Given the description of an element on the screen output the (x, y) to click on. 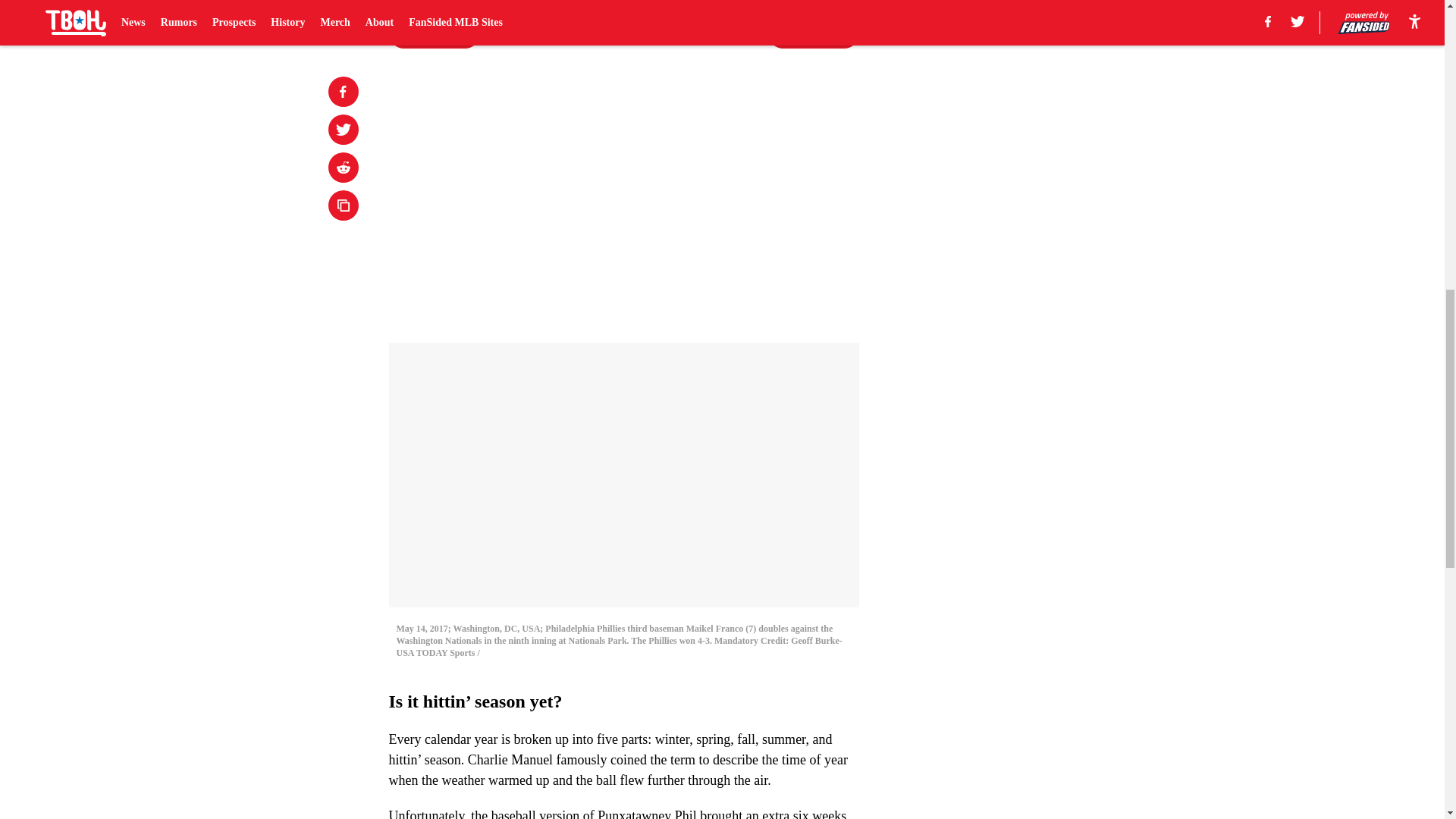
Next (813, 33)
Prev (433, 33)
